Given the description of an element on the screen output the (x, y) to click on. 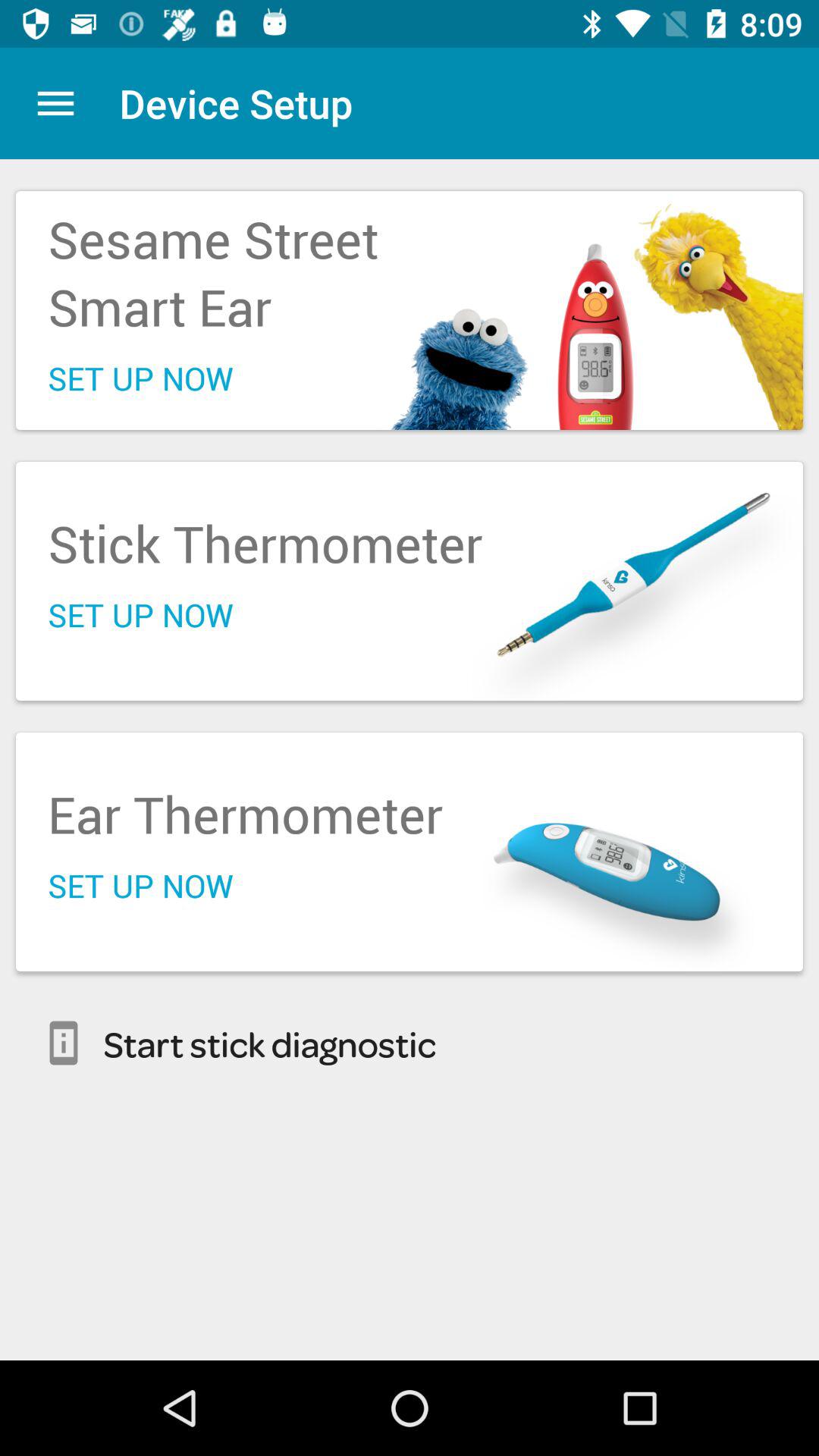
tap the item to the left of device setup item (55, 103)
